Given the description of an element on the screen output the (x, y) to click on. 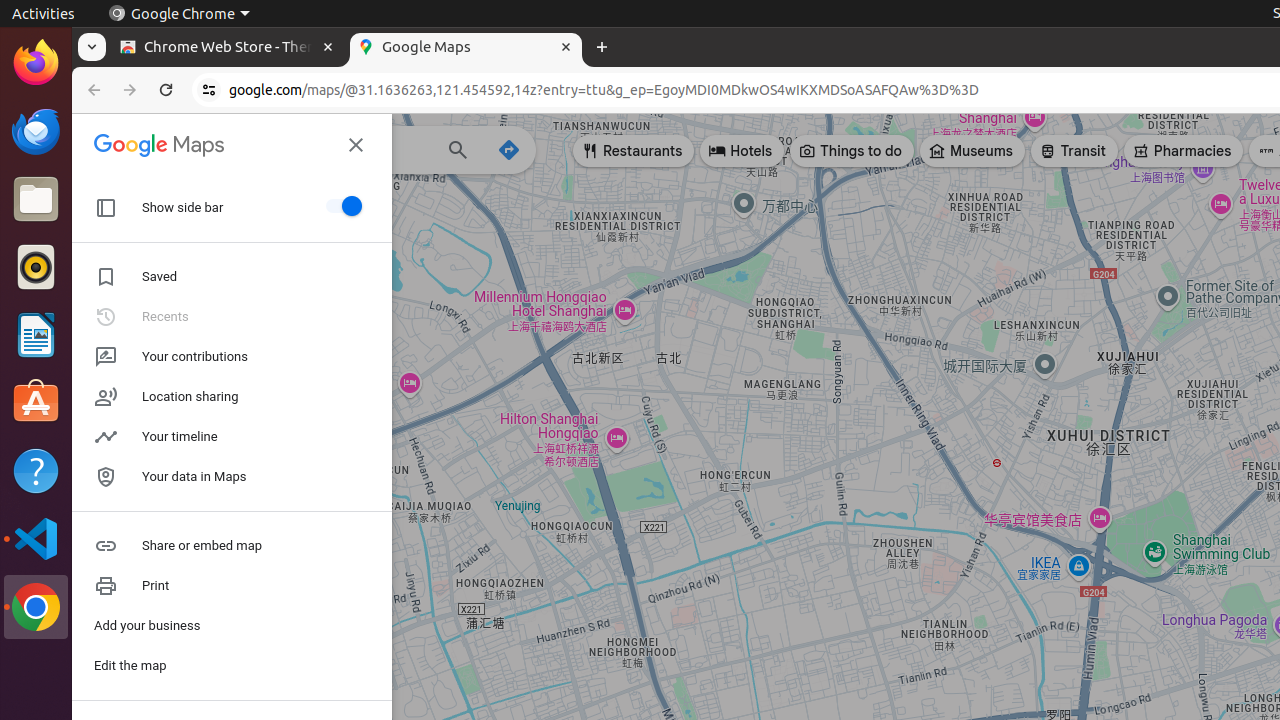
Restaurants Element type: push-button (634, 151)
Search Element type: push-button (457, 151)
Firefox Web Browser Element type: push-button (36, 63)
Forward Element type: push-button (130, 90)
View site information Element type: push-button (209, 90)
